Given the description of an element on the screen output the (x, y) to click on. 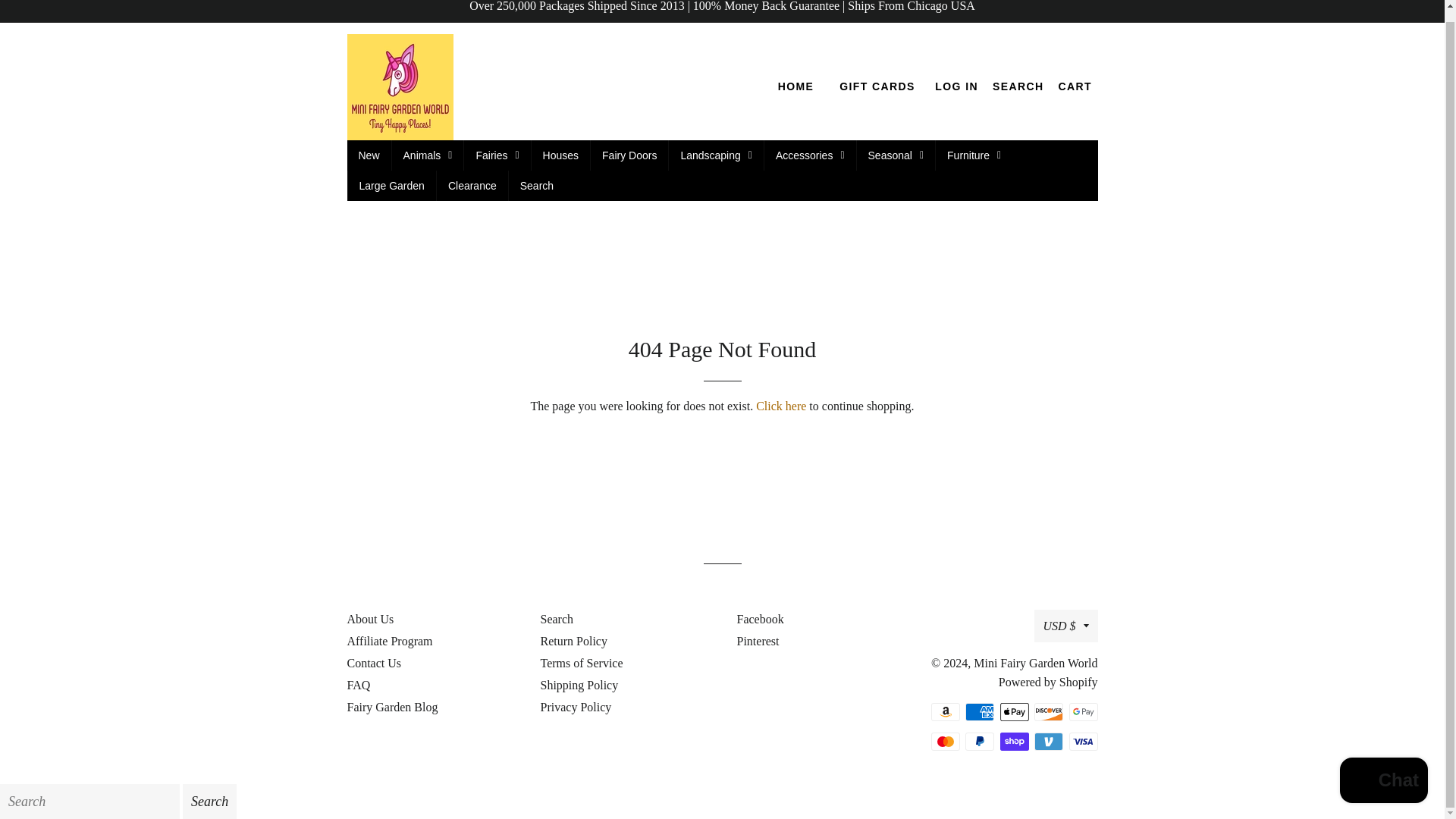
PayPal (979, 741)
American Express (979, 711)
Venmo (1047, 741)
Discover (1047, 711)
Apple Pay (1012, 711)
Shop Pay (1012, 741)
Google Pay (1082, 711)
Visa (1082, 741)
Amazon (945, 711)
Mastercard (945, 741)
